Given the description of an element on the screen output the (x, y) to click on. 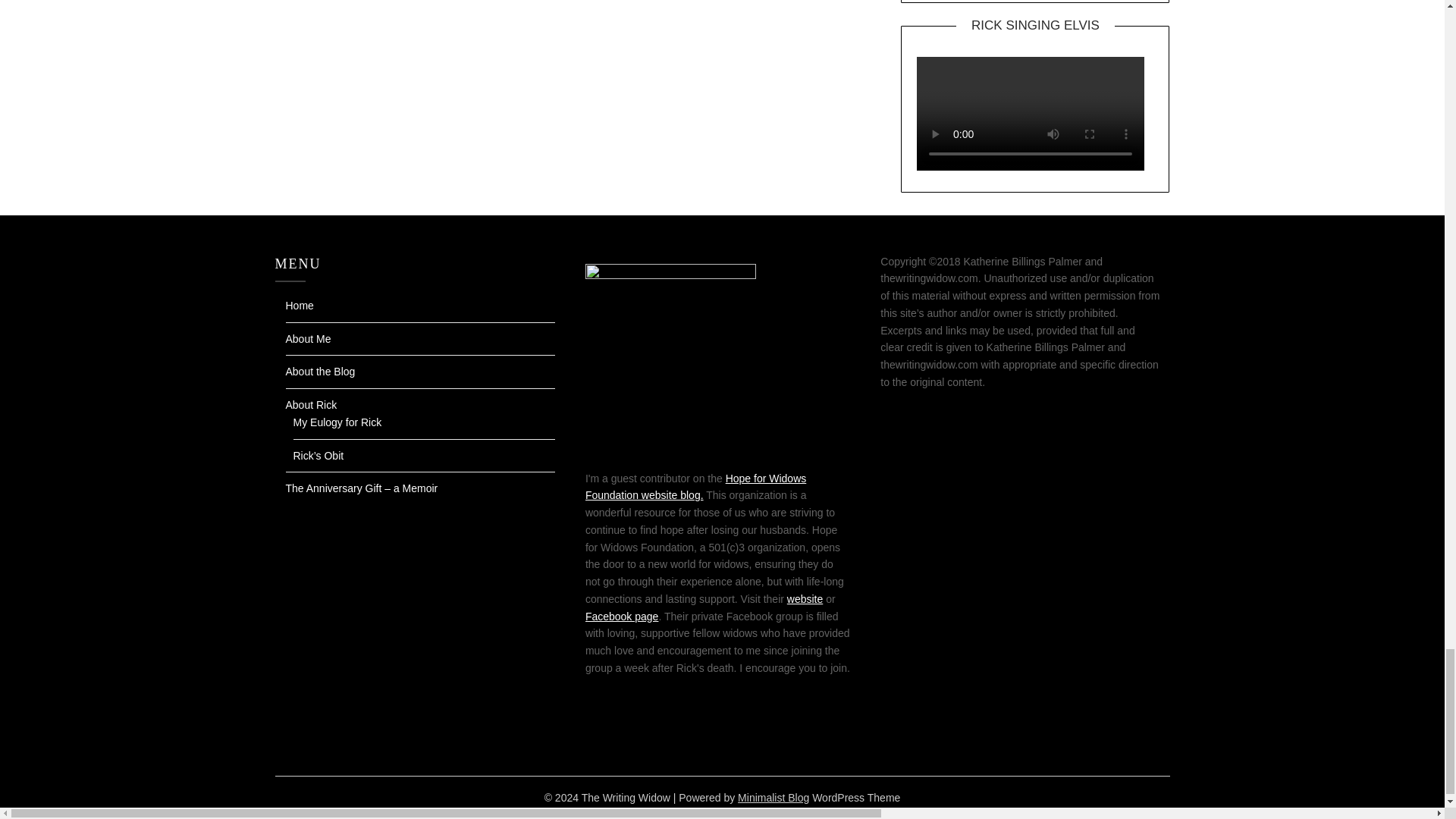
Home (299, 305)
About Me (307, 338)
About Rick (310, 404)
My Eulogy for Rick (336, 422)
About the Blog (320, 371)
